Given the description of an element on the screen output the (x, y) to click on. 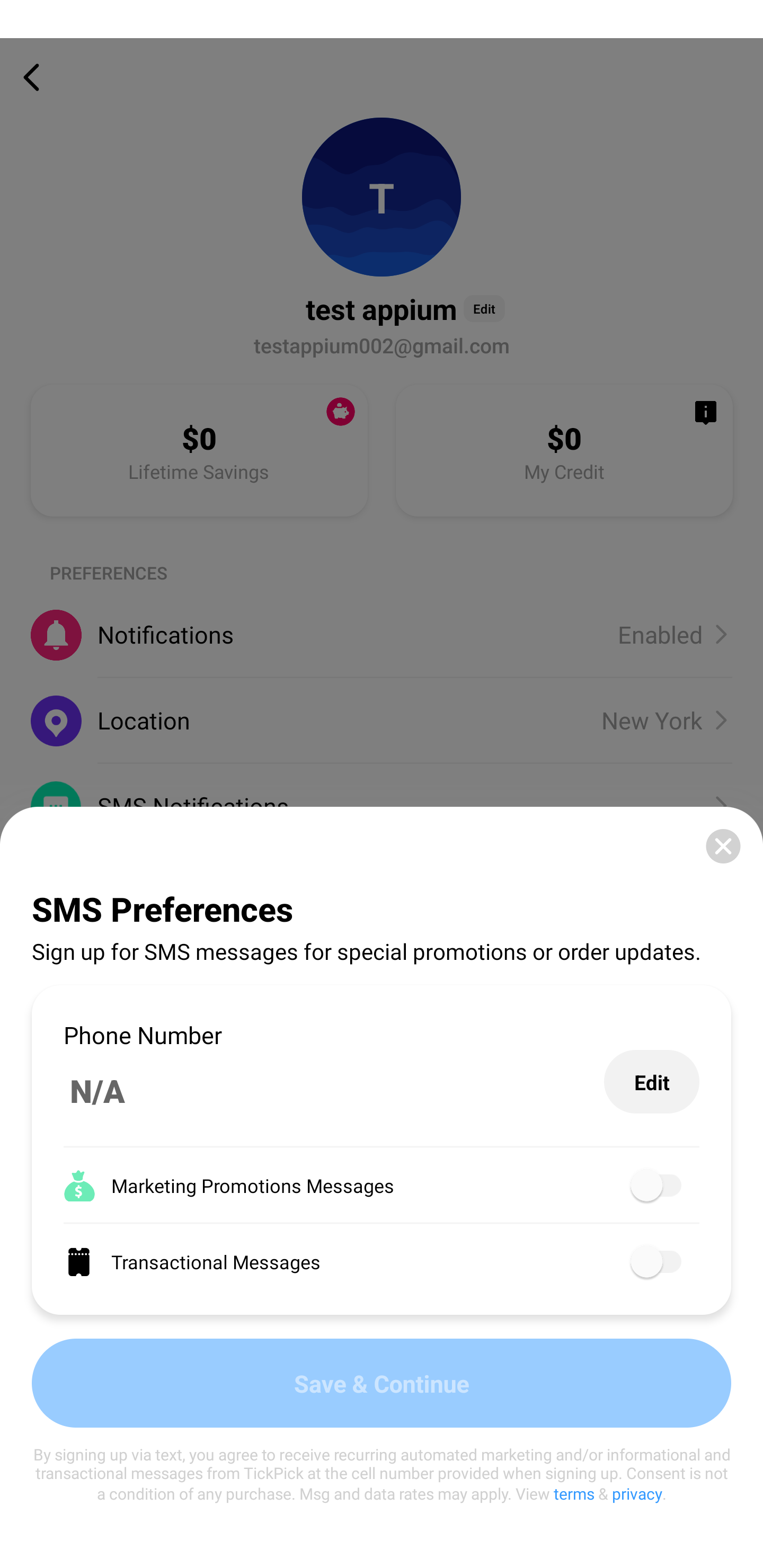
Edit (651, 1081)
N/A (333, 1091)
Save & Continue (381, 1382)
